Given the description of an element on the screen output the (x, y) to click on. 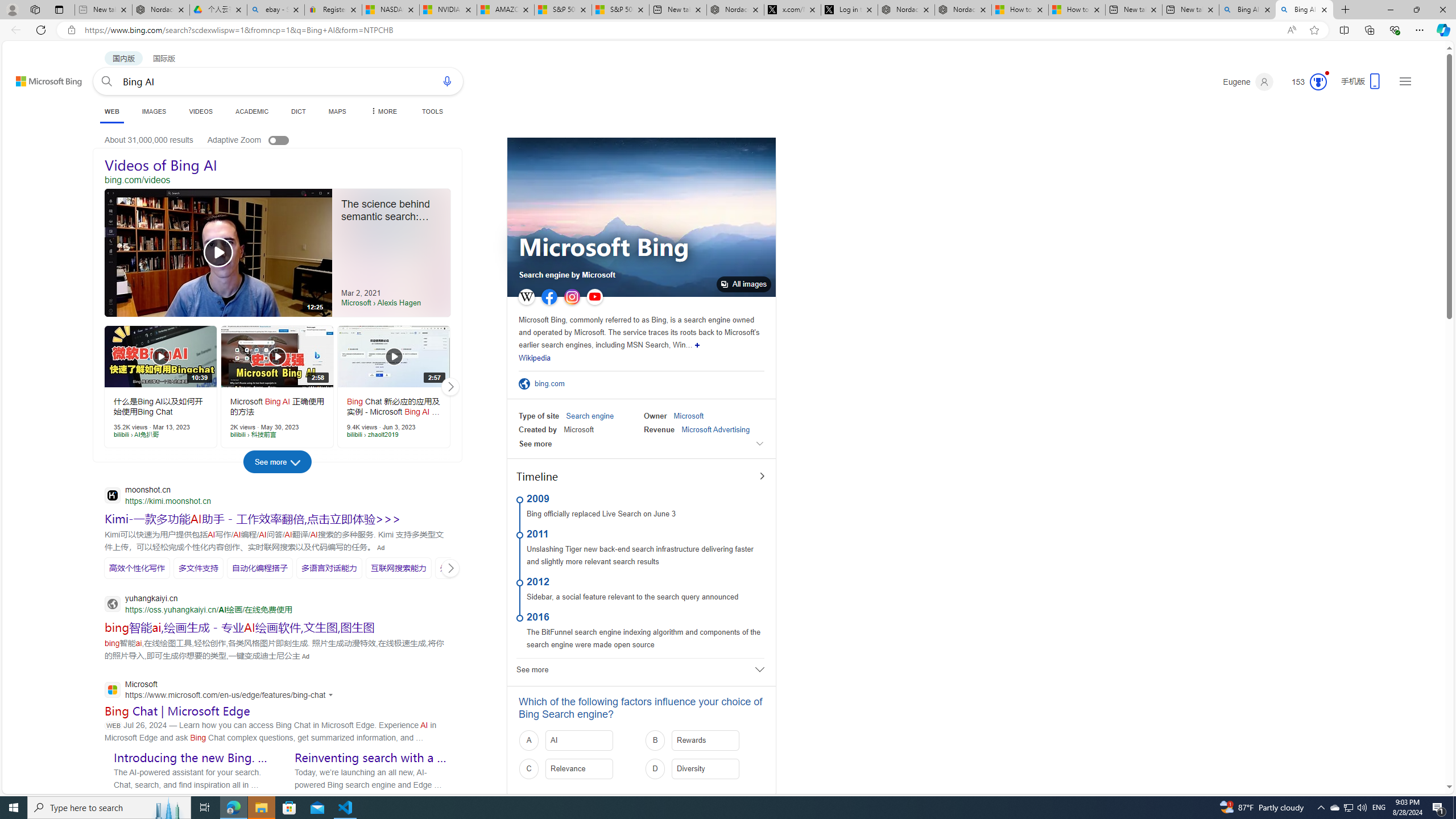
ACADEMIC (252, 111)
Wikipedia (534, 357)
WEB (111, 111)
Click to scroll right (450, 568)
Revenue (659, 429)
Search button (106, 80)
